Given the description of an element on the screen output the (x, y) to click on. 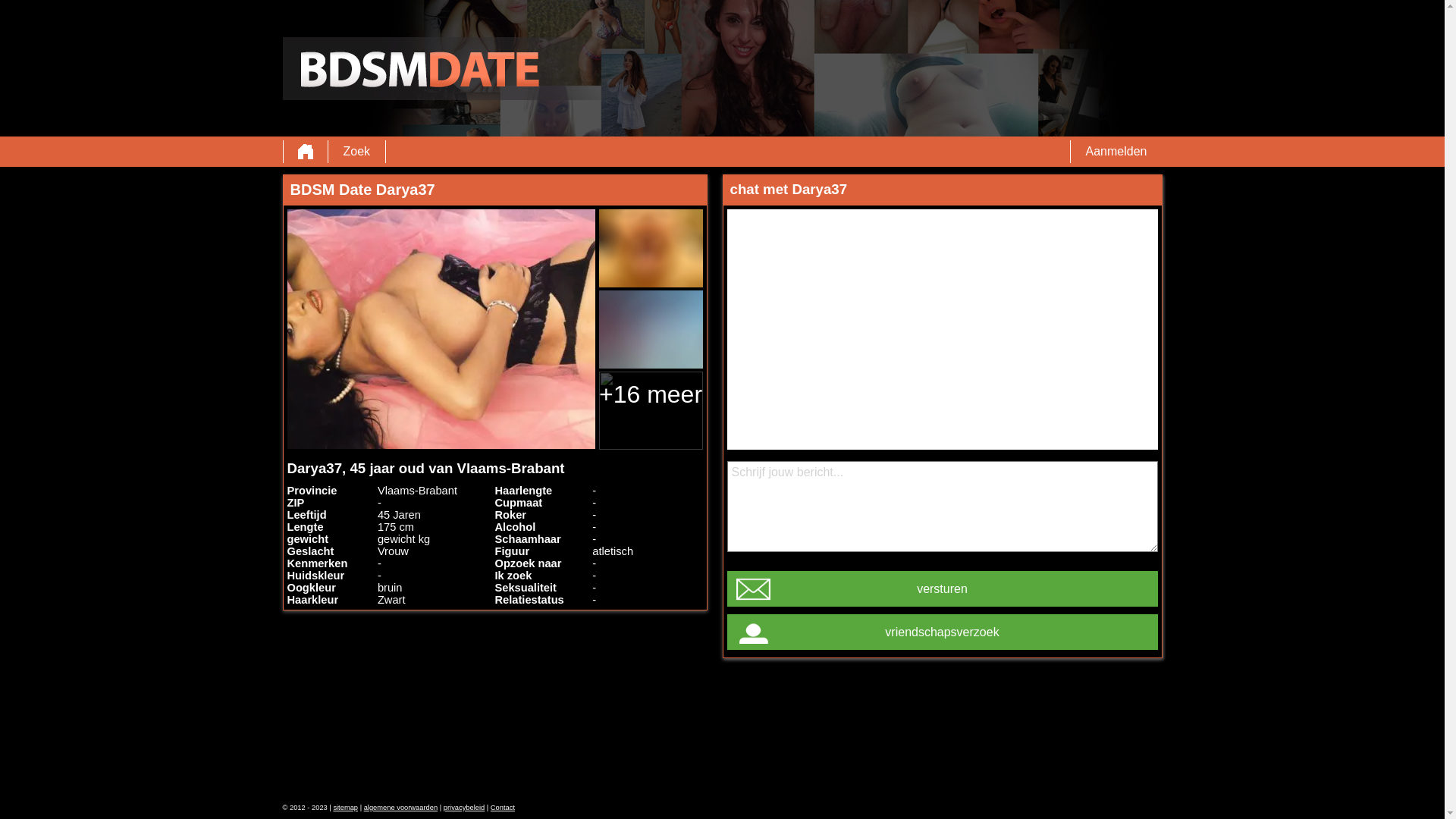
vriendschapsverzoek Element type: text (941, 631)
Aanmelden Element type: text (1116, 151)
algemene voorwaarden Element type: text (401, 807)
Contact Element type: text (502, 807)
Zoek Element type: text (356, 151)
Darya37 Element type: hover (440, 328)
privacybeleid Element type: text (463, 807)
+16 meer Element type: text (650, 410)
versturen Element type: text (941, 588)
sitemap Element type: text (344, 807)
